Given the description of an element on the screen output the (x, y) to click on. 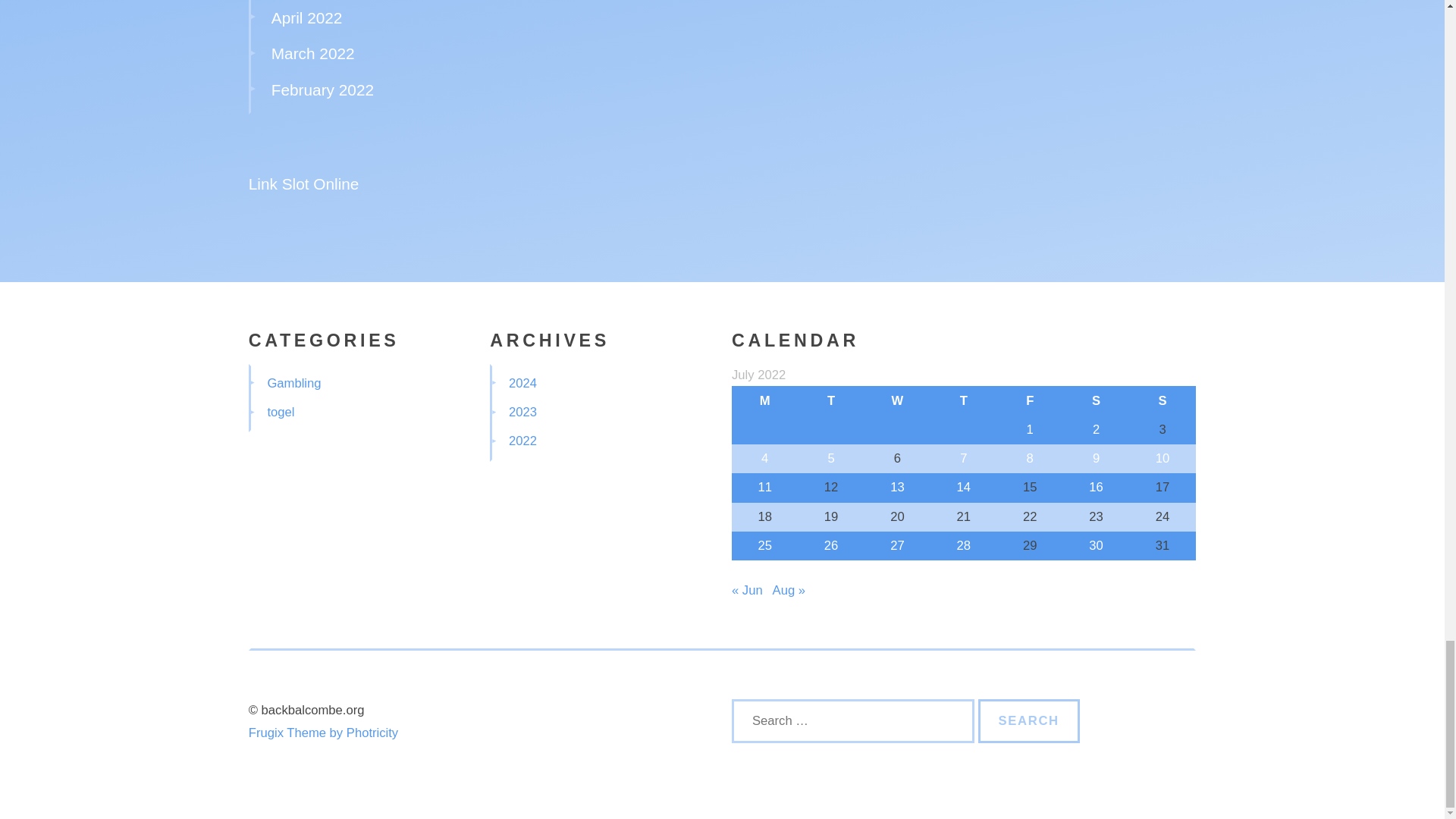
Thursday (962, 399)
Saturday (1095, 399)
Friday (1029, 399)
Monday (764, 399)
Sunday (1162, 399)
Tuesday (830, 399)
Search (1029, 720)
Wednesday (897, 399)
Search (1029, 720)
